Given the description of an element on the screen output the (x, y) to click on. 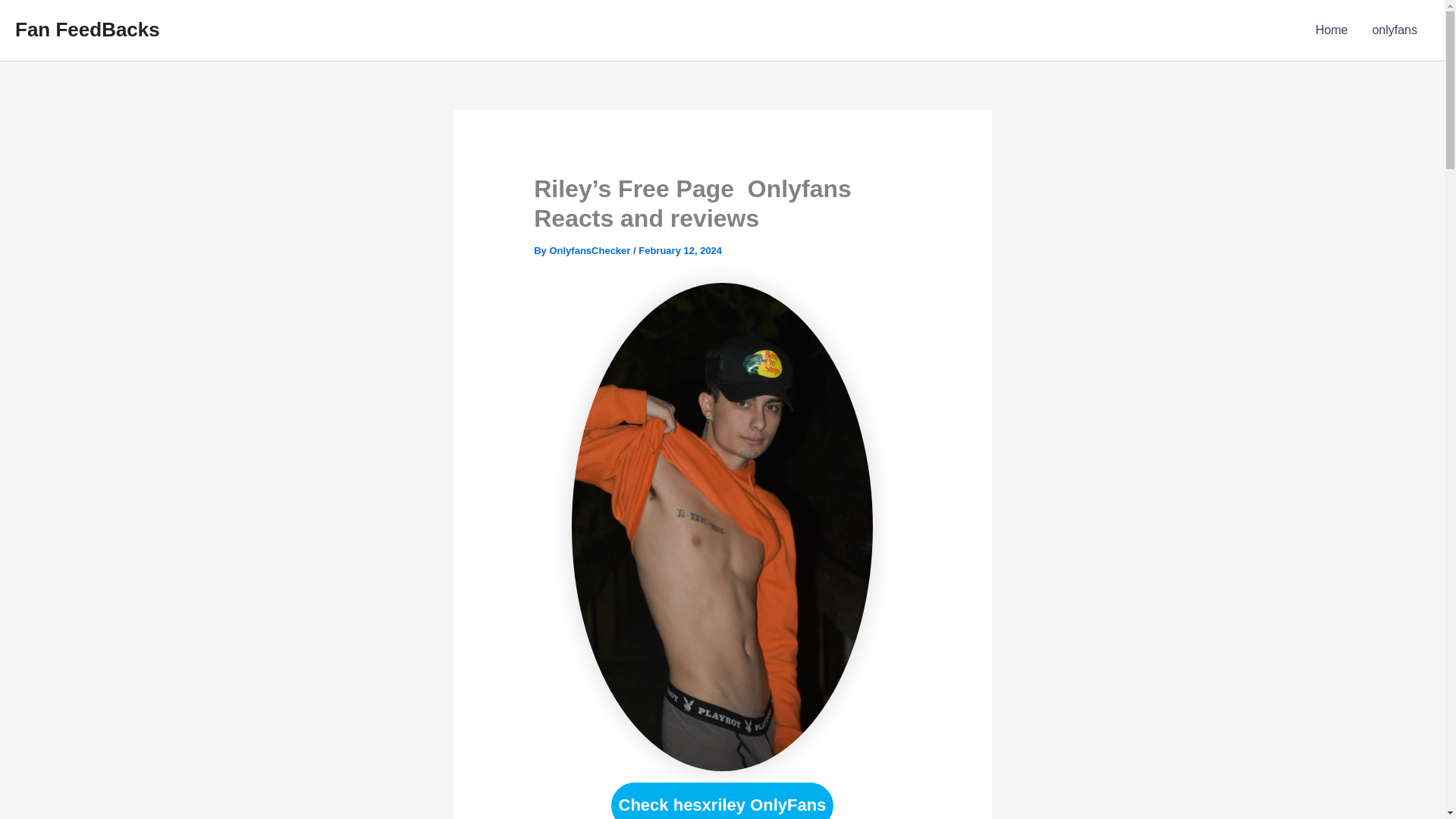
OnlyfansChecker (590, 250)
Check hesxriley OnlyFans (722, 800)
Home (1331, 30)
Fan FeedBacks (87, 29)
onlyfans (1394, 30)
View all posts by OnlyfansChecker (590, 250)
